Given the description of an element on the screen output the (x, y) to click on. 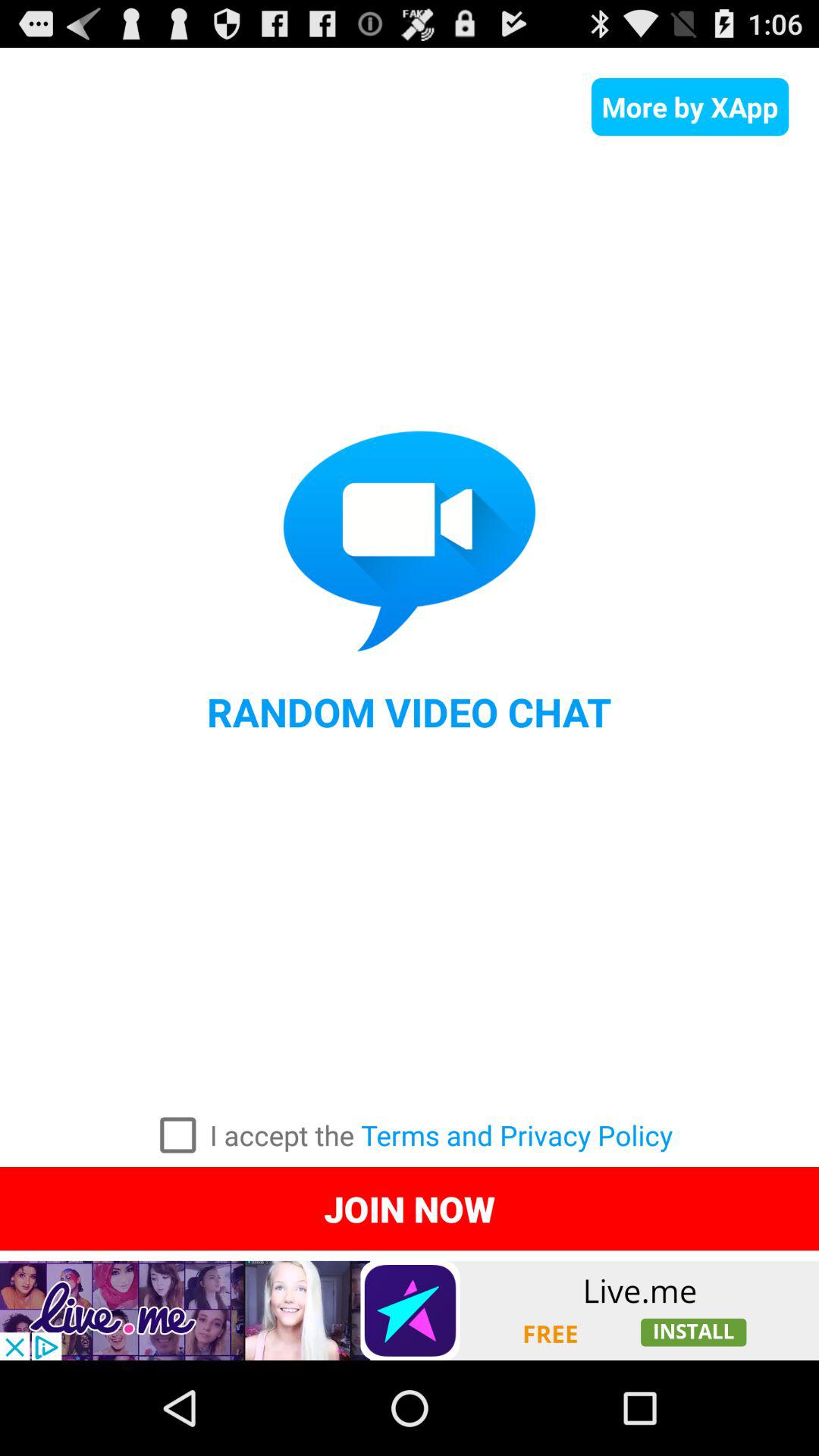
filter (177, 1135)
